Given the description of an element on the screen output the (x, y) to click on. 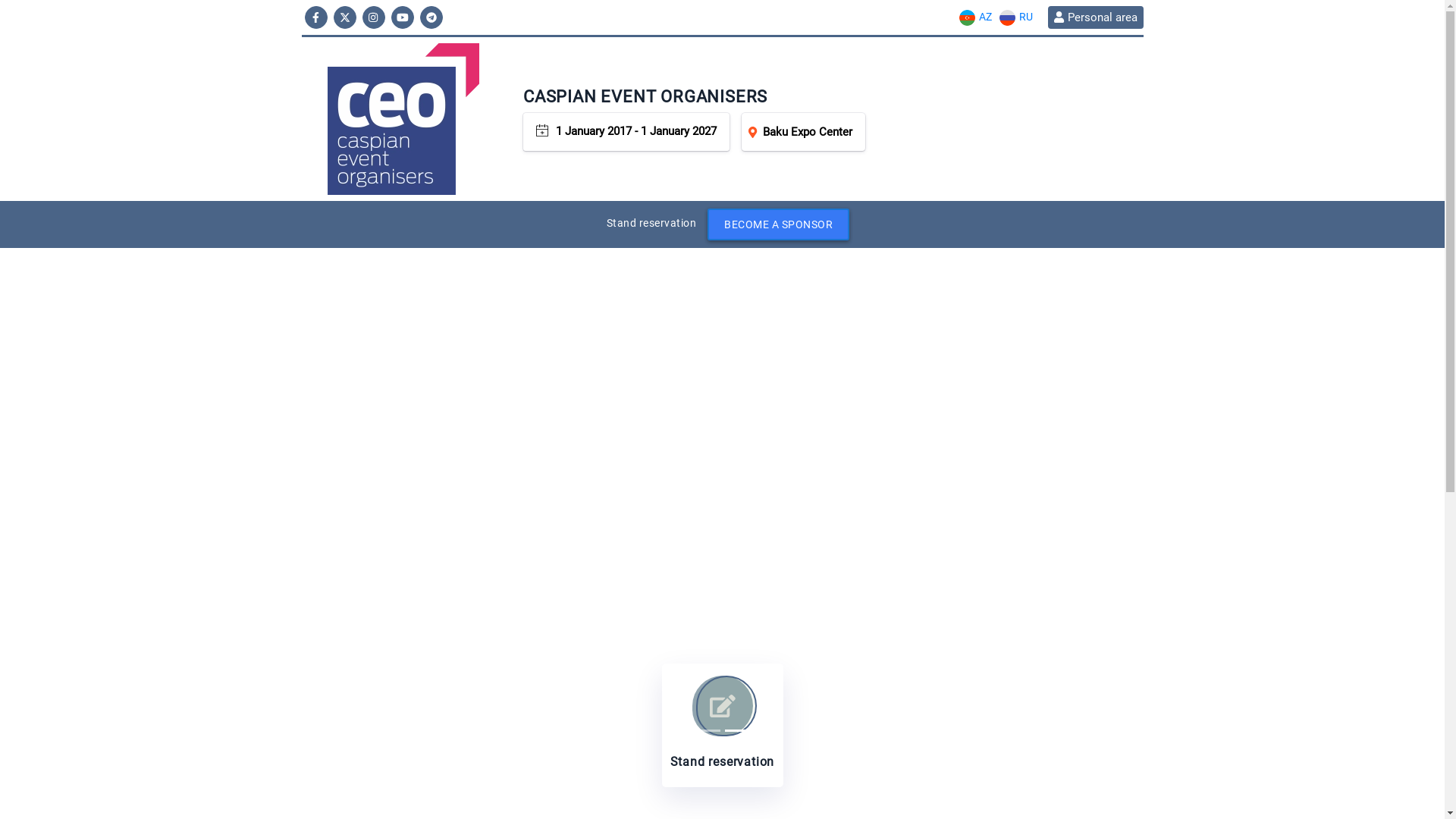
Stand reservation Element type: text (721, 725)
Baku Expo Center Element type: text (803, 131)
RU Element type: text (1014, 16)
Personal area Element type: text (1095, 17)
AZ Element type: text (974, 16)
Stand reservation Element type: text (651, 222)
BECOME A SPONSOR Element type: text (778, 224)
